Given the description of an element on the screen output the (x, y) to click on. 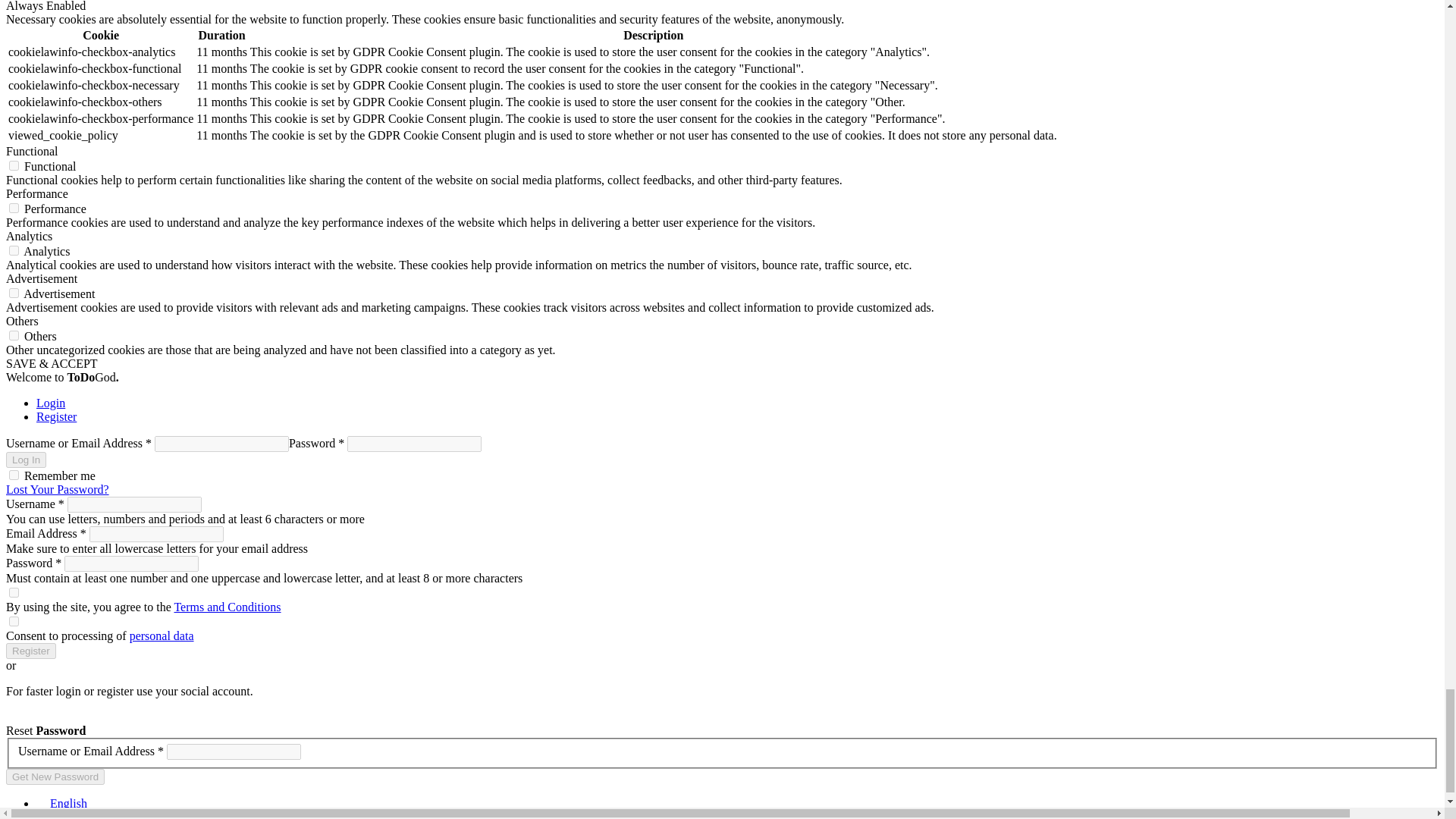
on (13, 335)
1 (13, 621)
on (13, 293)
on (13, 207)
on (13, 165)
on (13, 250)
true (13, 474)
1 (13, 592)
